Given the description of an element on the screen output the (x, y) to click on. 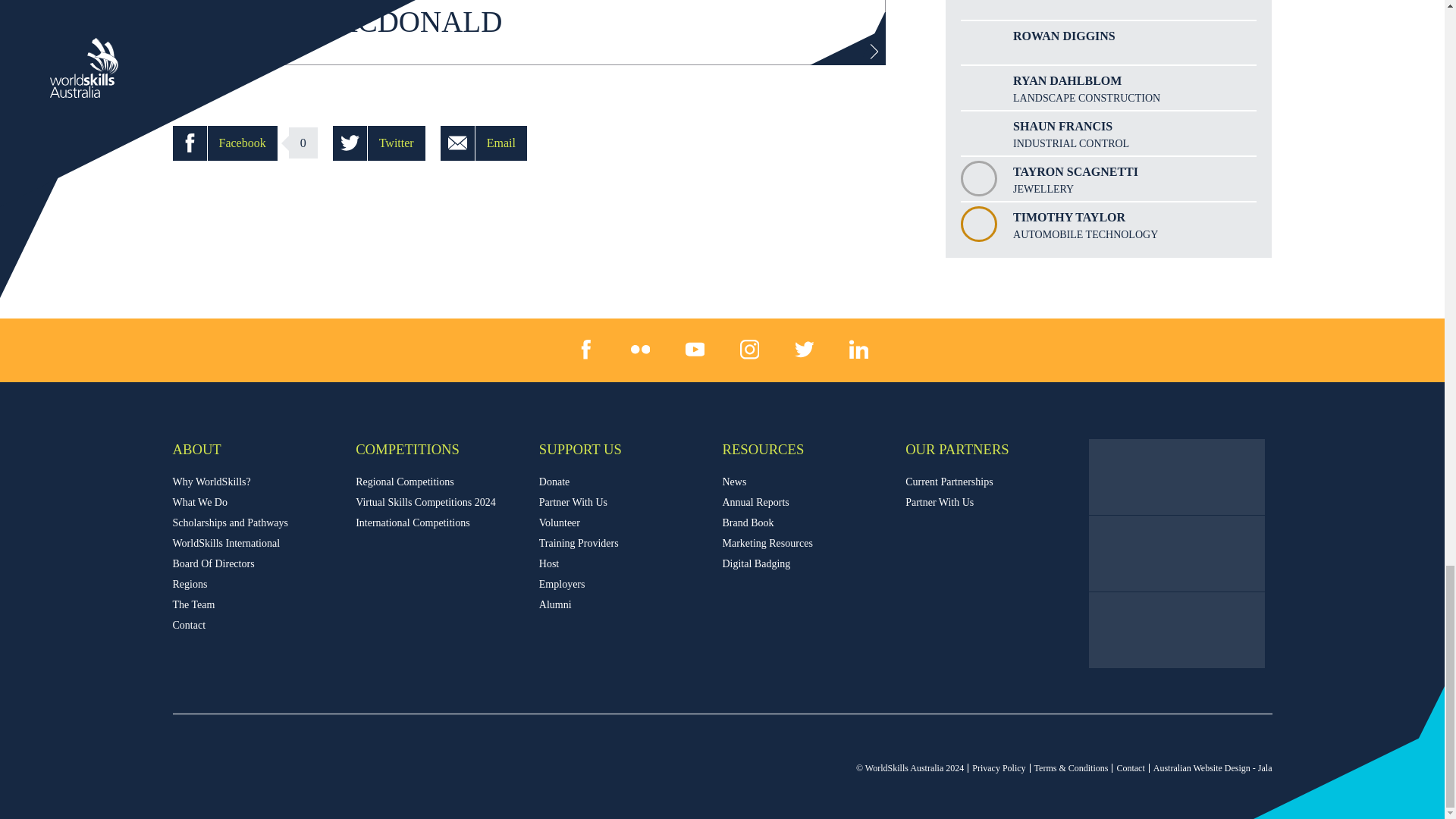
Share by Twitter (379, 143)
Share by Email (484, 143)
Share by Facebook (225, 143)
Jala Design (1212, 768)
